Given the description of an element on the screen output the (x, y) to click on. 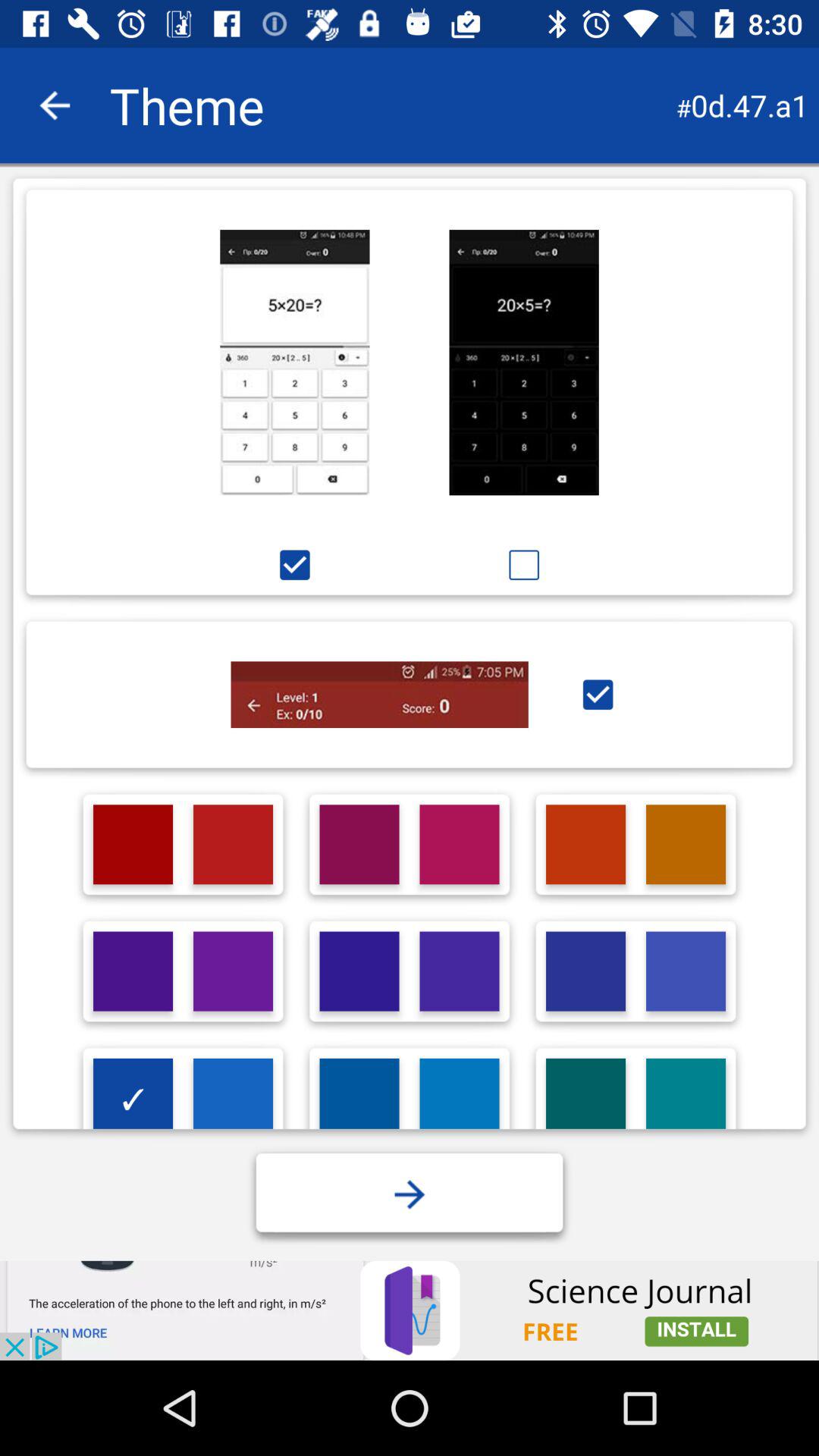
choose a colour (685, 971)
